Given the description of an element on the screen output the (x, y) to click on. 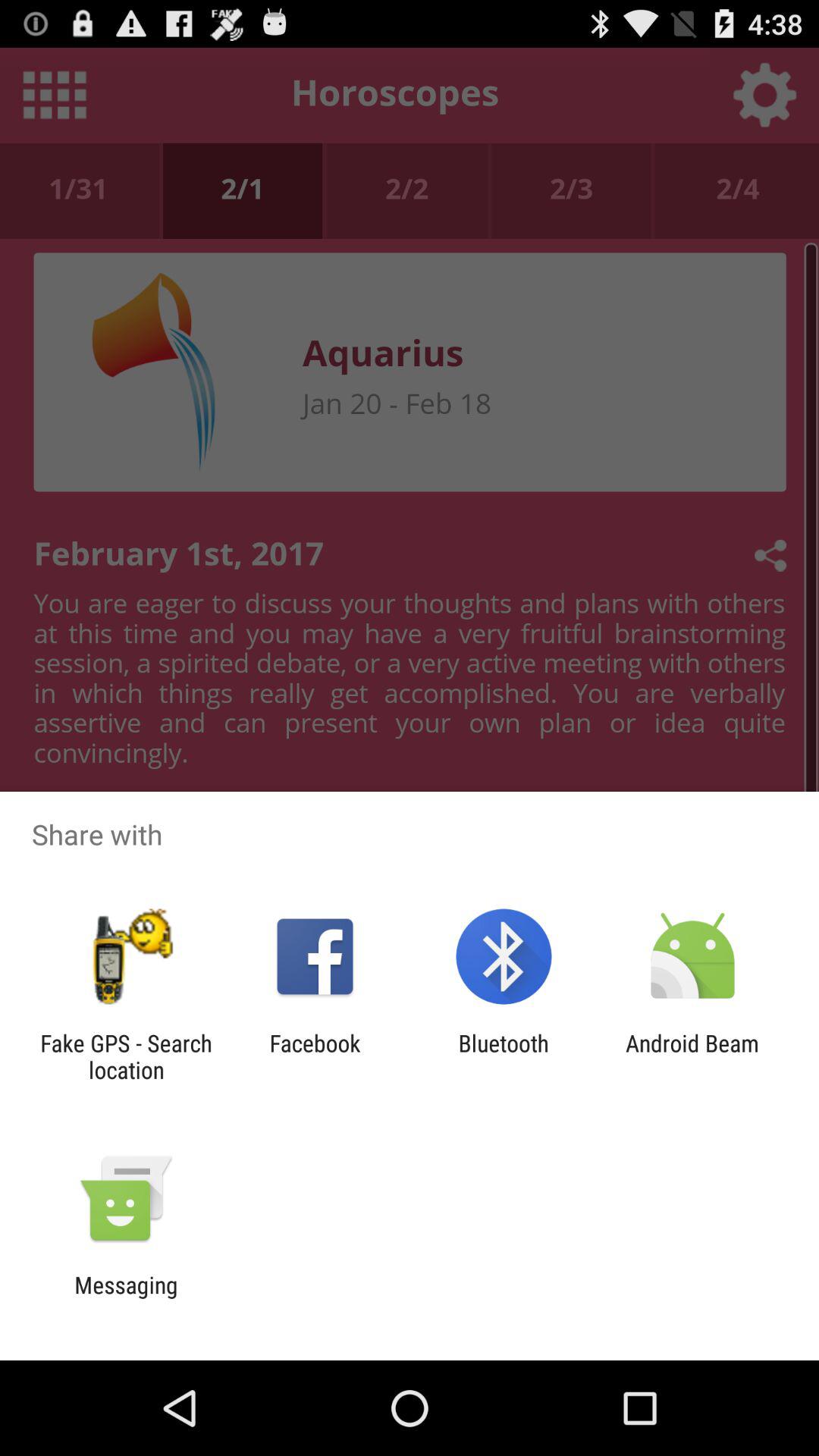
open item next to fake gps search item (314, 1056)
